Given the description of an element on the screen output the (x, y) to click on. 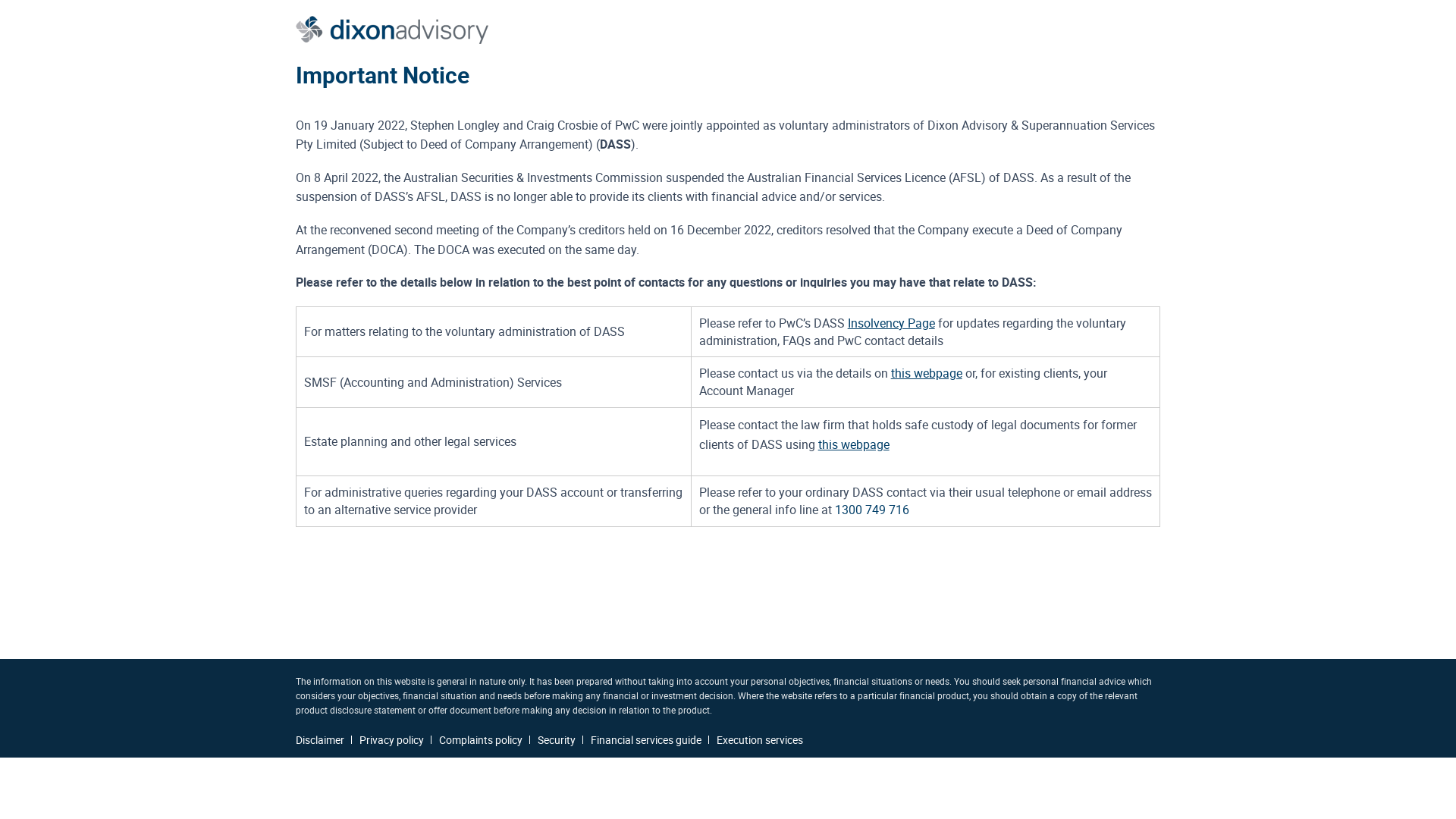
Insolvency Page Element type: text (891, 322)
Execution services Element type: text (759, 739)
this webpage Element type: text (926, 372)
Financial services guide Element type: text (645, 739)
Complaints policy Element type: text (480, 739)
this webpage Element type: text (853, 444)
Security Element type: text (556, 739)
Disclaimer Element type: text (319, 739)
1300 749 716 Element type: text (871, 509)
Privacy policy Element type: text (391, 739)
